Given the description of an element on the screen output the (x, y) to click on. 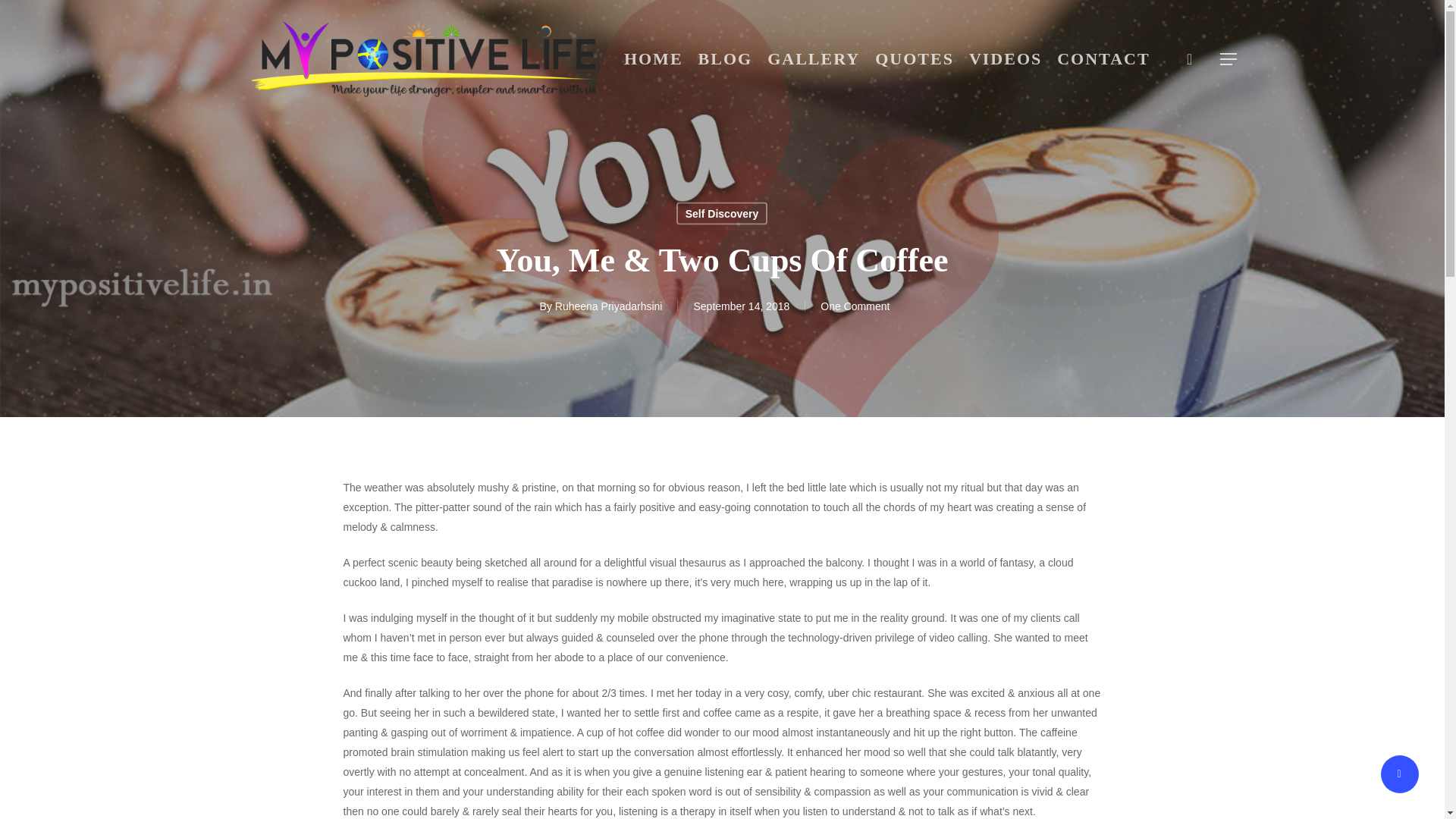
CONTACT (1103, 58)
Posts by Ruheena Priyadarhsini (608, 306)
VIDEOS (1004, 58)
BLOG (725, 58)
Ruheena Priyadarhsini (608, 306)
search (1189, 59)
Self Discovery (722, 212)
GALLERY (813, 58)
HOME (652, 58)
One Comment (855, 306)
Menu (1229, 59)
QUOTES (913, 58)
